Given the description of an element on the screen output the (x, y) to click on. 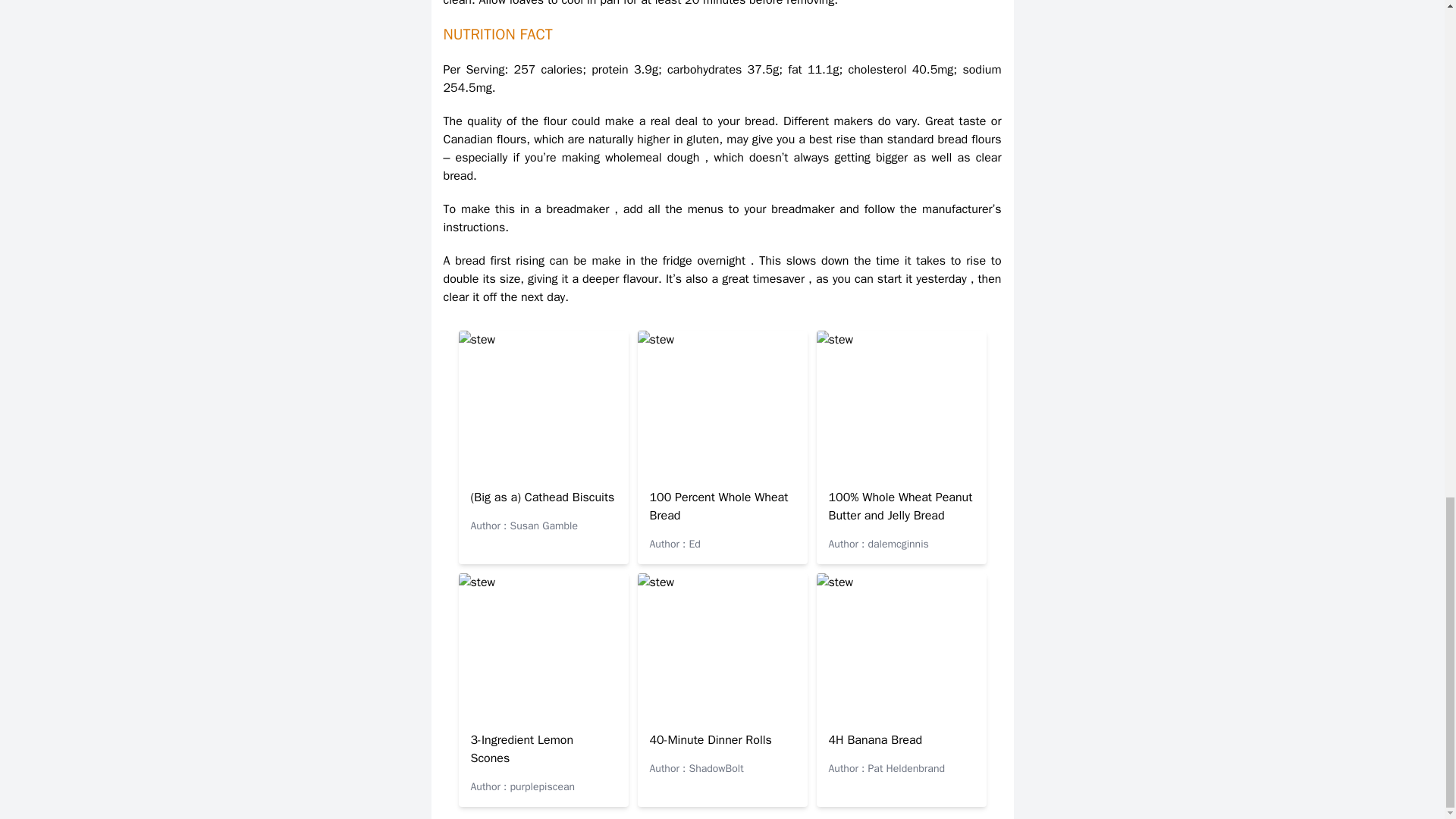
100 Percent Whole Wheat Bread (718, 506)
3-Ingredient Lemon Scones (521, 748)
4H Banana Bread (874, 739)
40-Minute Dinner Rolls (710, 739)
